Given the description of an element on the screen output the (x, y) to click on. 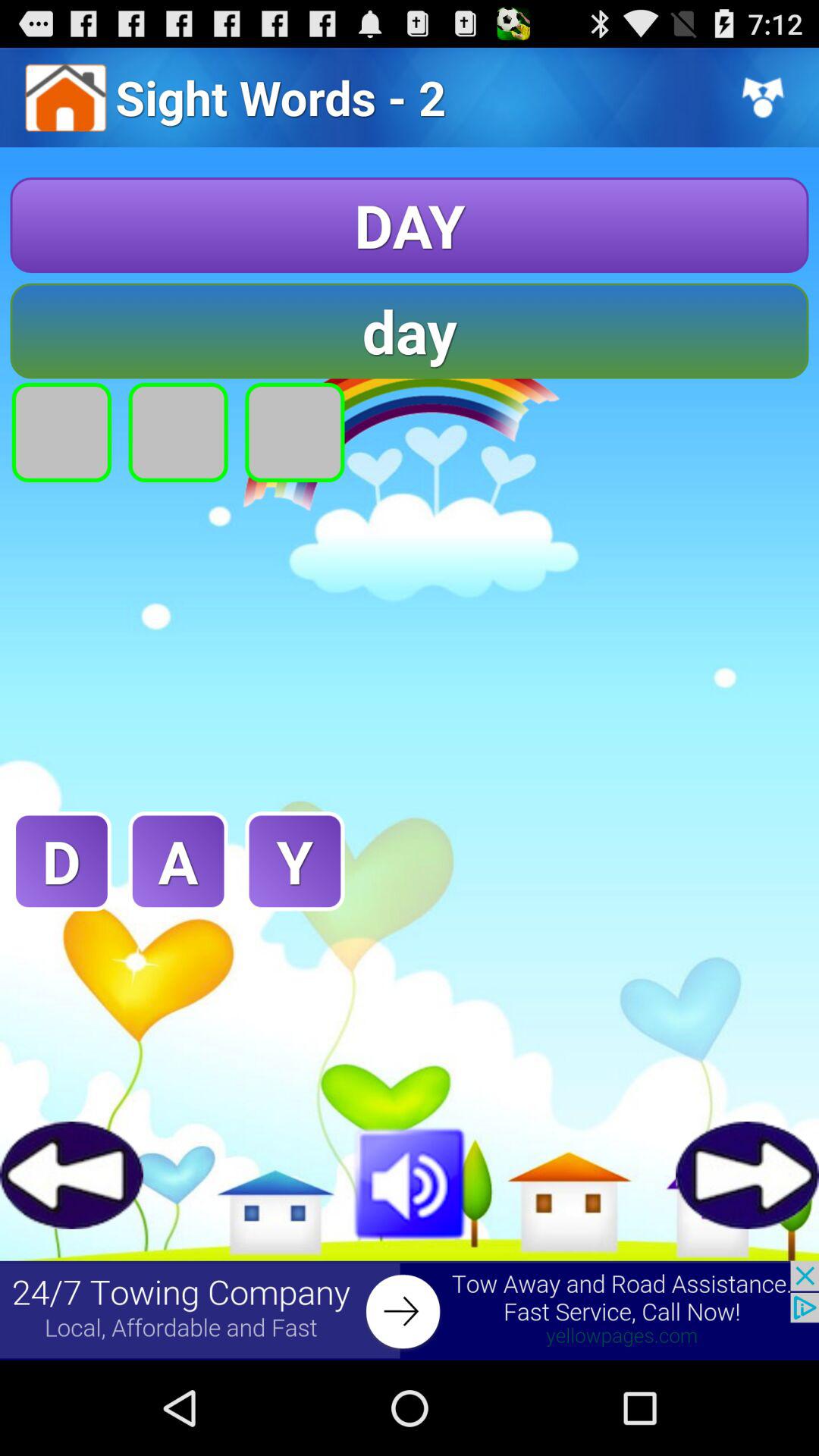
go to next page (747, 1175)
